Given the description of an element on the screen output the (x, y) to click on. 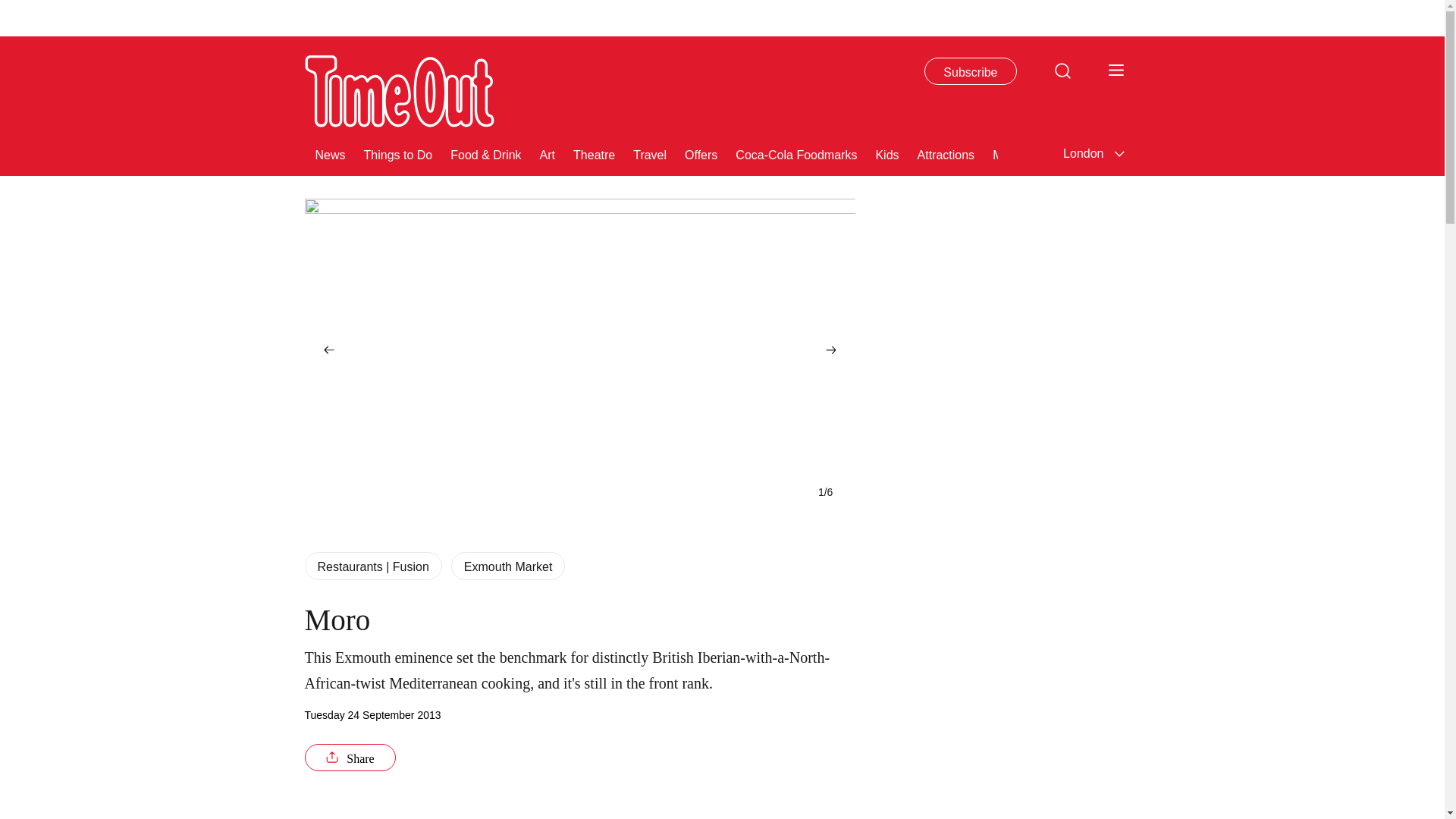
Theatre (593, 153)
Attractions (945, 153)
Nightlife (1176, 153)
Offers (700, 153)
Music (1120, 153)
Coca-Cola Foodmarks (796, 153)
Film (1074, 153)
News (330, 153)
Go to the content (10, 7)
Travel (649, 153)
Museums (1018, 153)
Subscribe (970, 71)
Art (547, 153)
Feeling Spontaneous? (1329, 153)
Search (1061, 69)
